Given the description of an element on the screen output the (x, y) to click on. 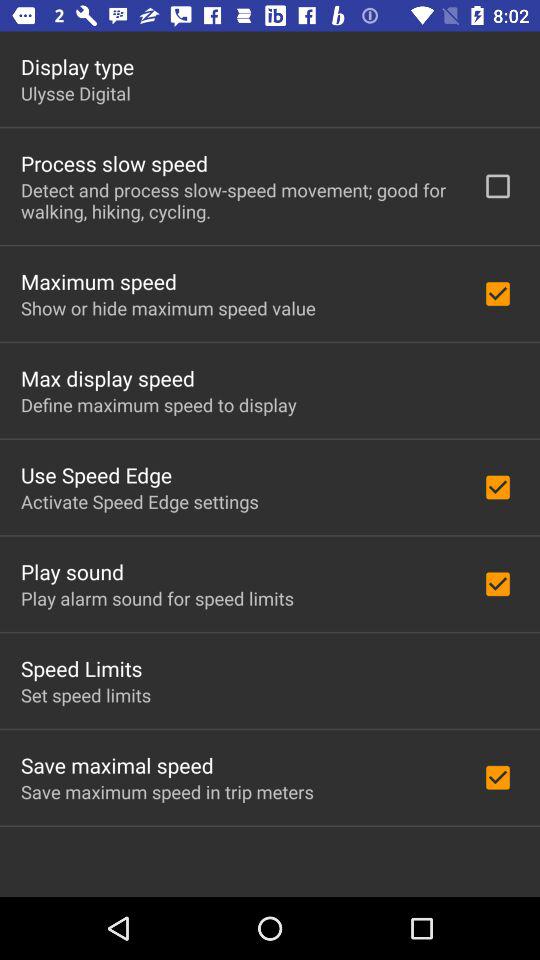
choose the app above the ulysse digital icon (77, 66)
